Given the description of an element on the screen output the (x, y) to click on. 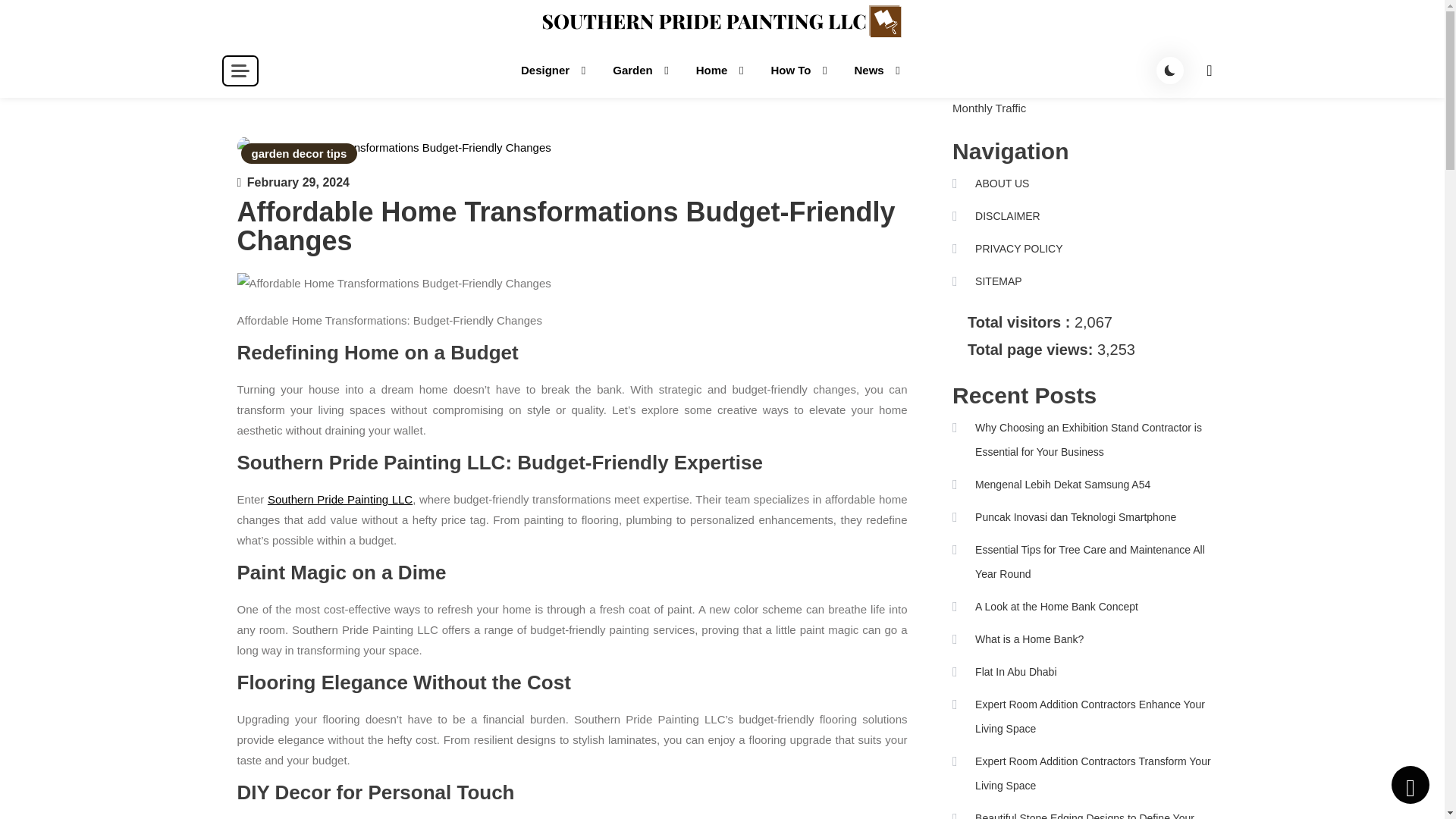
garden decor tips (299, 153)
site mode button (1169, 70)
Home (716, 70)
Southern Pride Painting llc (327, 60)
Affordable Home Transformations Budget-Friendly Changes (571, 282)
Affordable Home Transformations Budget-Friendly Changes (392, 147)
February 29, 2024 (298, 182)
Designer (550, 70)
Search (1170, 96)
Garden (637, 70)
